Given the description of an element on the screen output the (x, y) to click on. 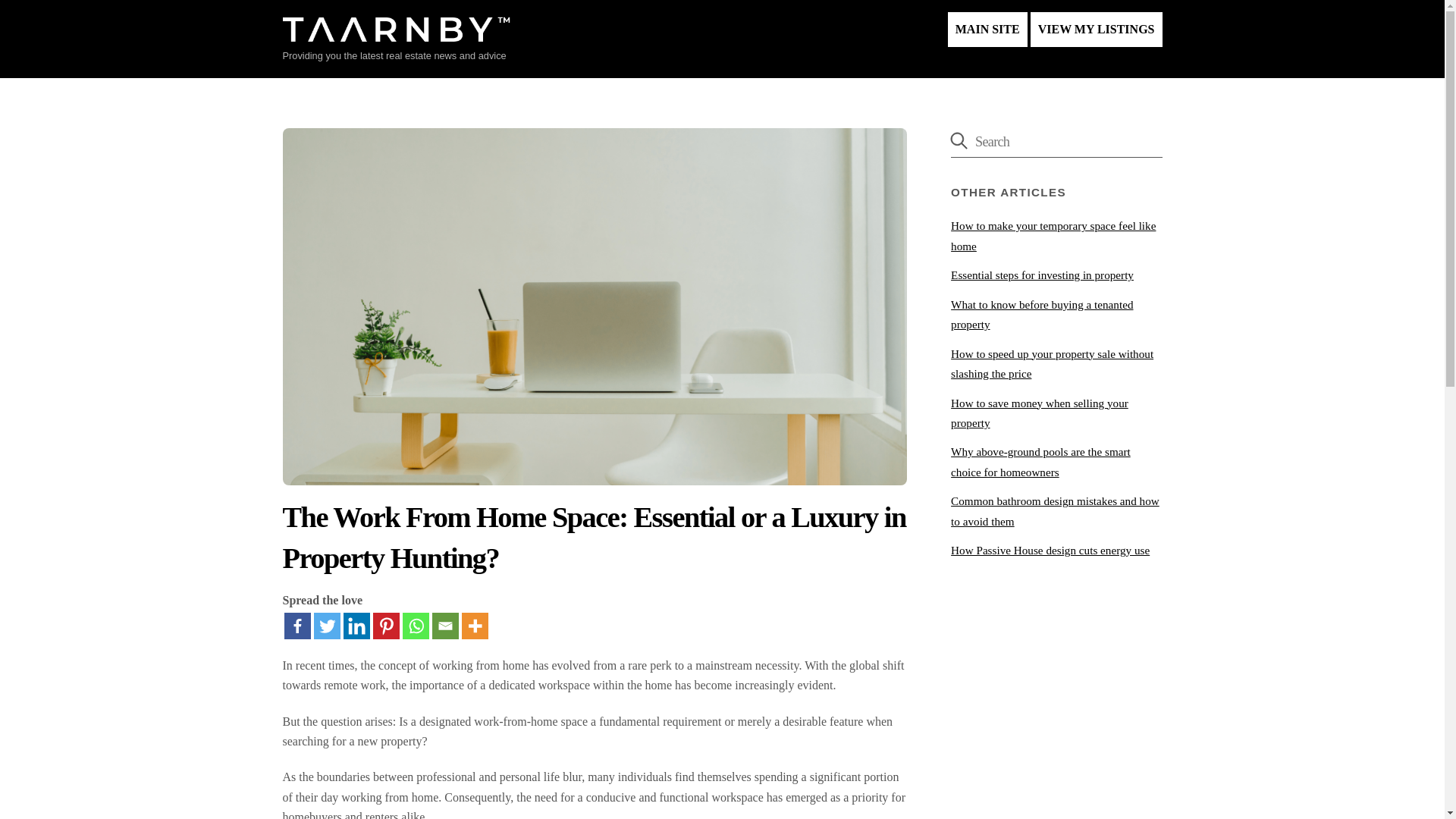
MAIN SITE (987, 29)
Pinterest (385, 625)
How to make your temporary space feel like home (1053, 235)
Essential steps for investing in property (1042, 274)
Common bathroom design mistakes and how to avoid them (1054, 510)
Facebook (296, 625)
Whatsapp (414, 625)
More (474, 625)
What to know before buying a tenanted property (1041, 314)
